Given the description of an element on the screen output the (x, y) to click on. 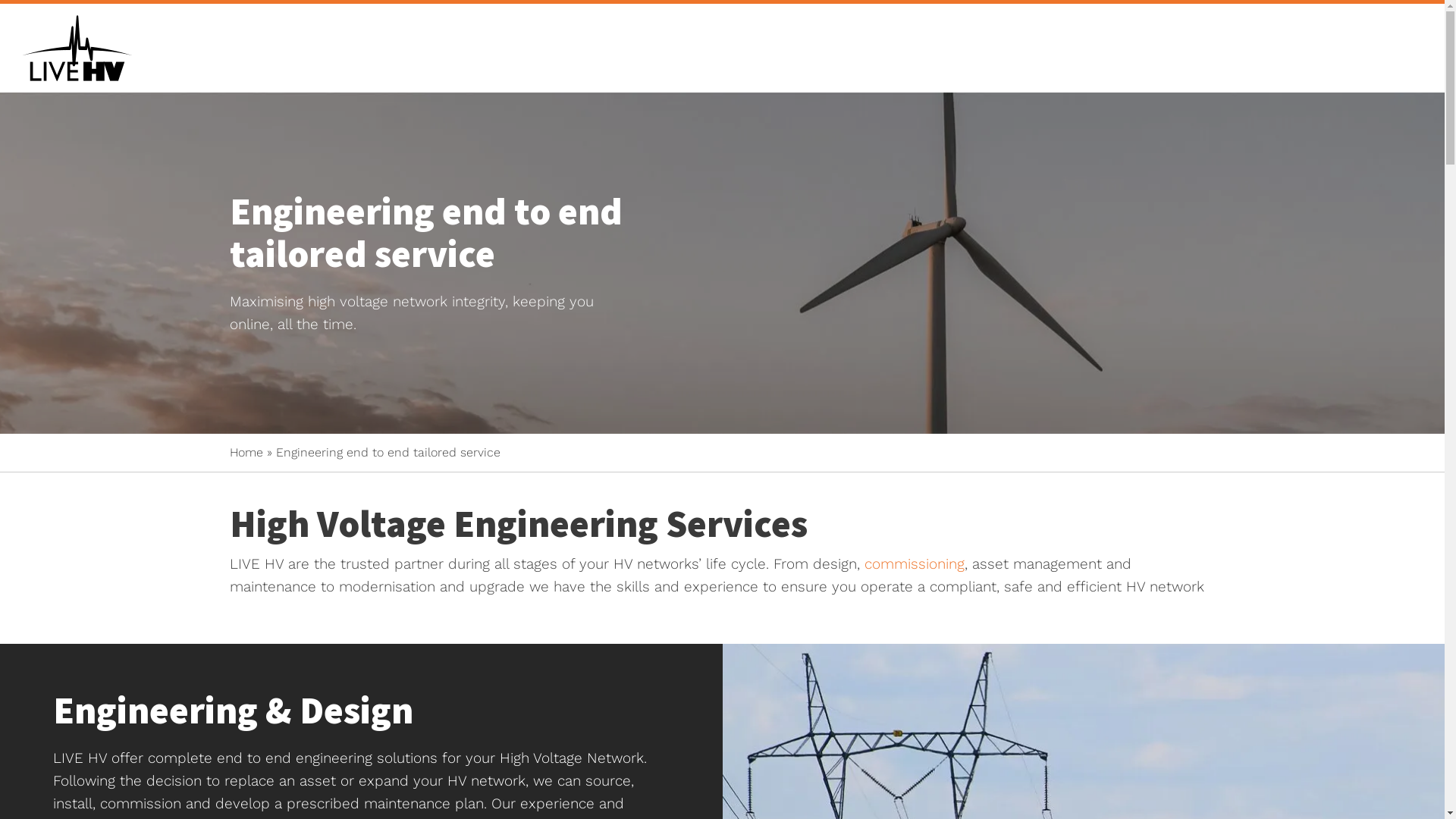
commissioning Element type: text (914, 563)
Home Element type: text (245, 452)
